Given the description of an element on the screen output the (x, y) to click on. 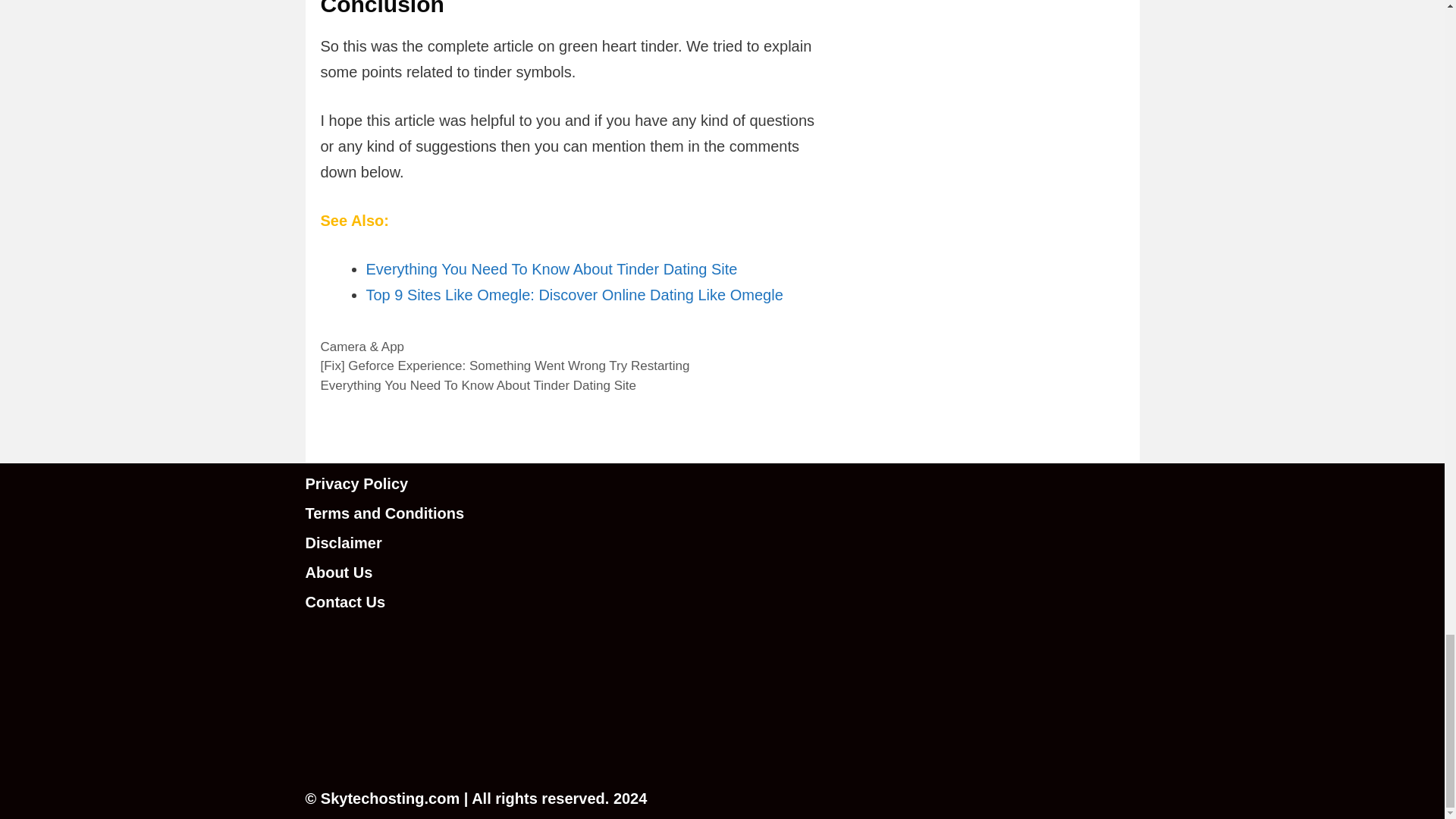
Everything You Need To Know About Tinder Dating Site (477, 385)
Contact Us (344, 601)
Top 9 Sites Like Omegle: Discover Online Dating Like Omegle (574, 294)
Terms and Conditions (384, 513)
DMCA.com Protection Status (418, 750)
Privacy Policy (355, 483)
About Us (338, 572)
Everything You Need To Know About Tinder Dating Site (550, 269)
Disclaimer (342, 542)
